Given the description of an element on the screen output the (x, y) to click on. 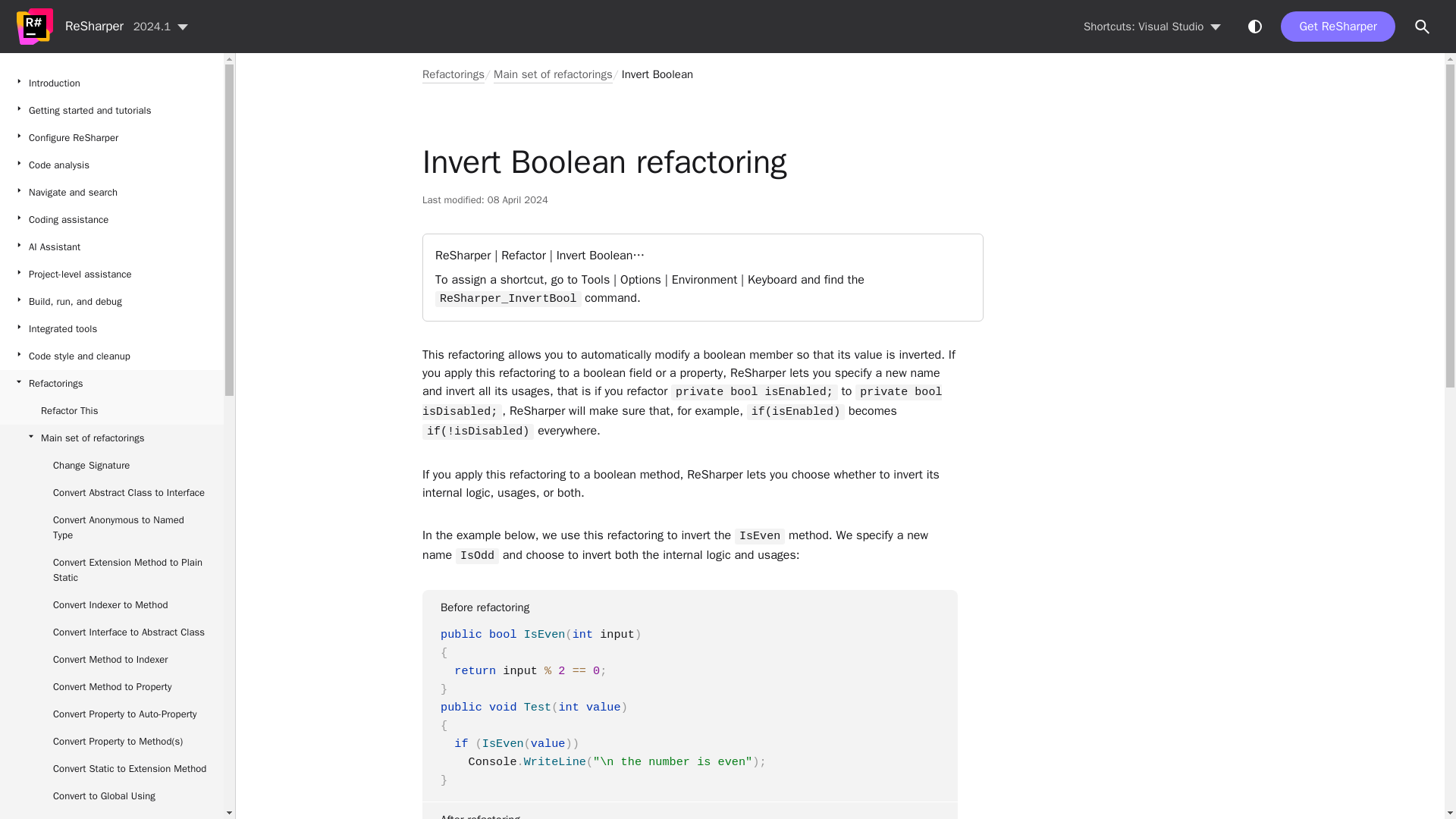
Code style and cleanup (112, 356)
Refactor This (112, 411)
Convert Indexer to Method (112, 605)
Convert Method to Indexer (112, 659)
Coding assistance (112, 219)
Convert Extension Method to Plain Static (112, 569)
Switch theme (1254, 26)
Navigate and search (112, 192)
Change Signature (112, 465)
Convert to Global Using (112, 795)
Getting started and tutorials (112, 110)
Introduction (112, 83)
Convert Interface to Abstract Class (112, 632)
Build, run, and debug (112, 301)
Convert Method to Property (112, 687)
